Given the description of an element on the screen output the (x, y) to click on. 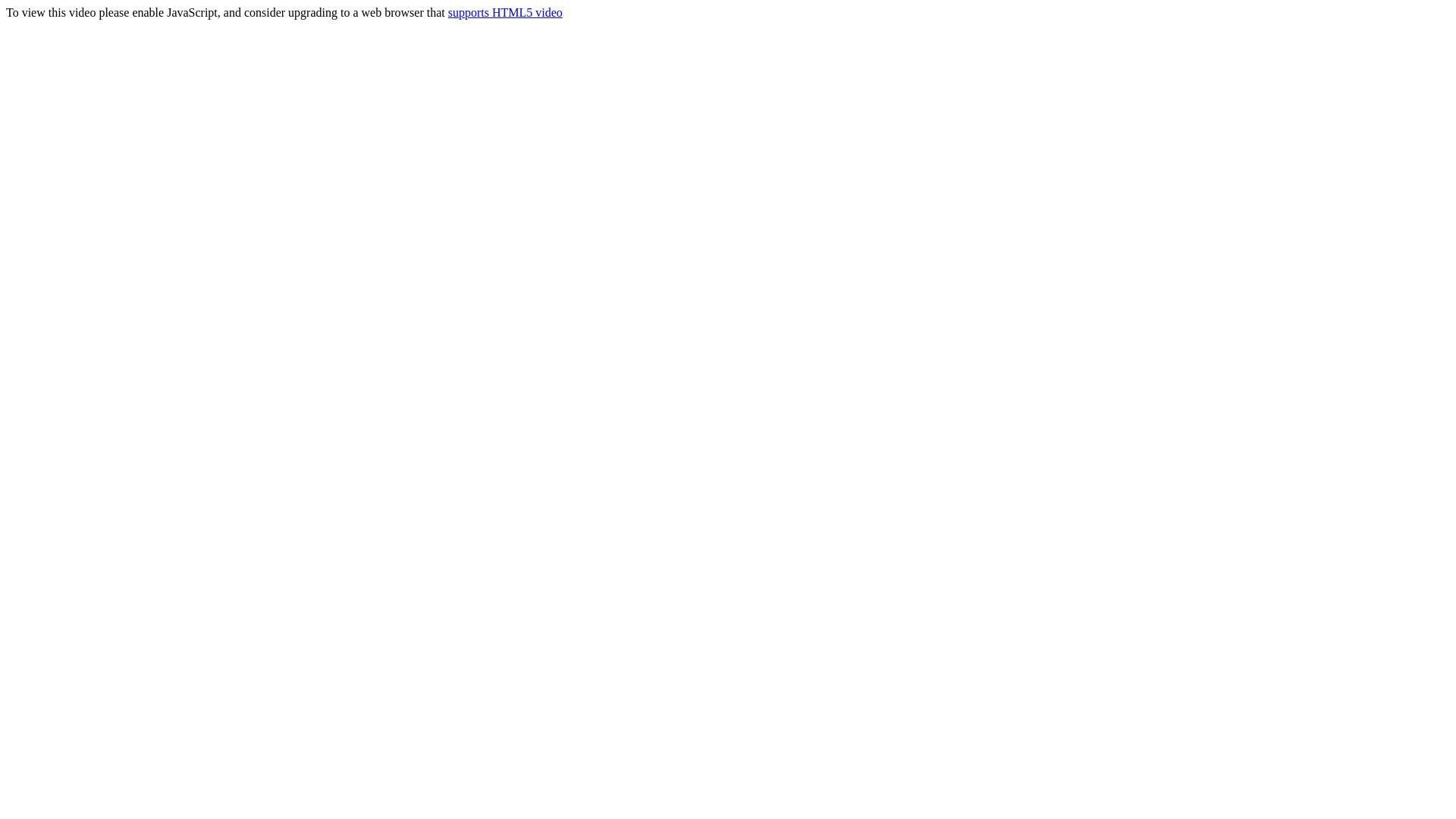
supports HTML5 video Element type: text (505, 12)
